Given the description of an element on the screen output the (x, y) to click on. 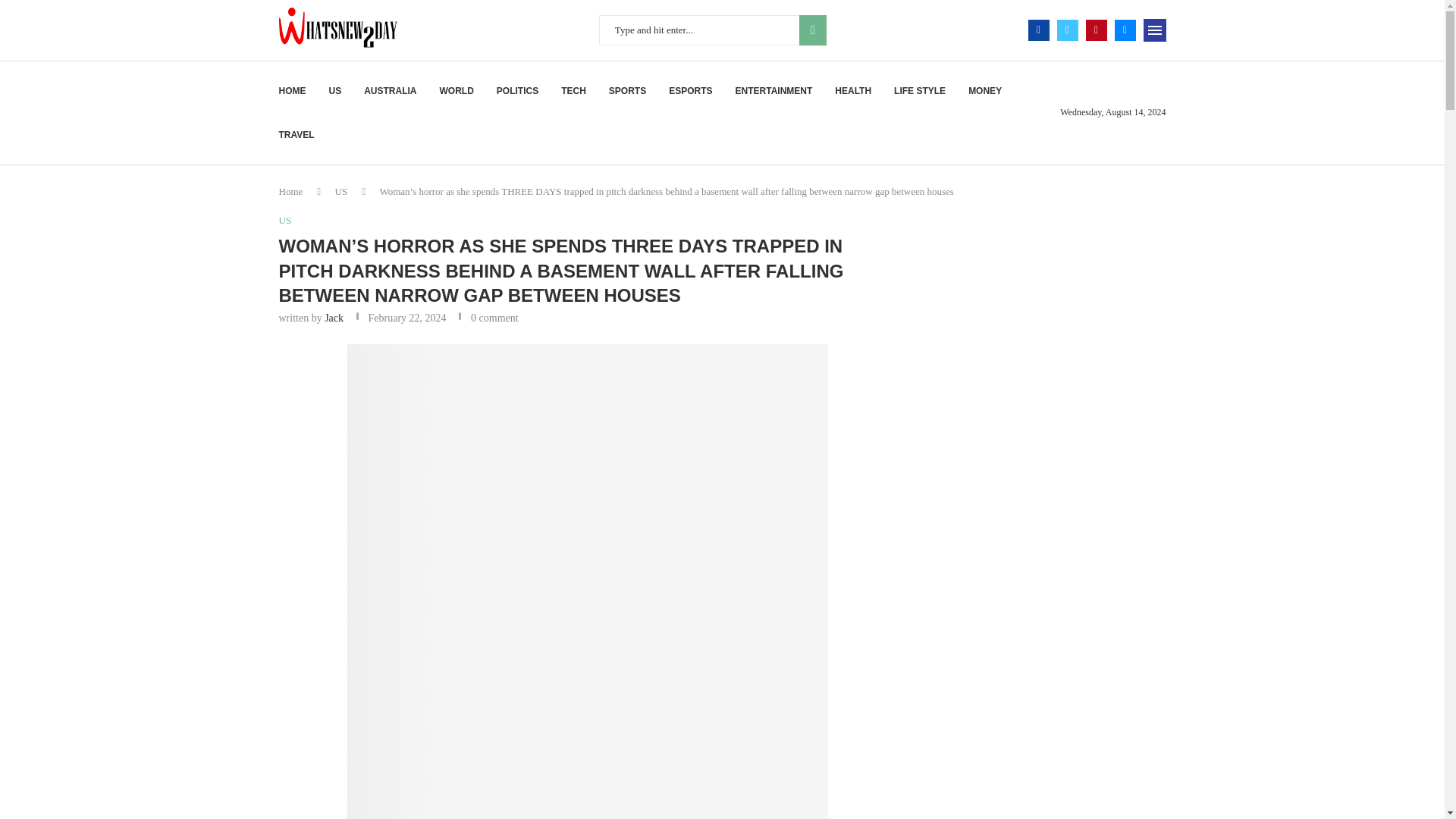
ESPORTS (689, 90)
ENTERTAINMENT (773, 90)
POLITICS (517, 90)
AUSTRALIA (390, 90)
SEARCH (813, 30)
LIFE STYLE (918, 90)
